Given the description of an element on the screen output the (x, y) to click on. 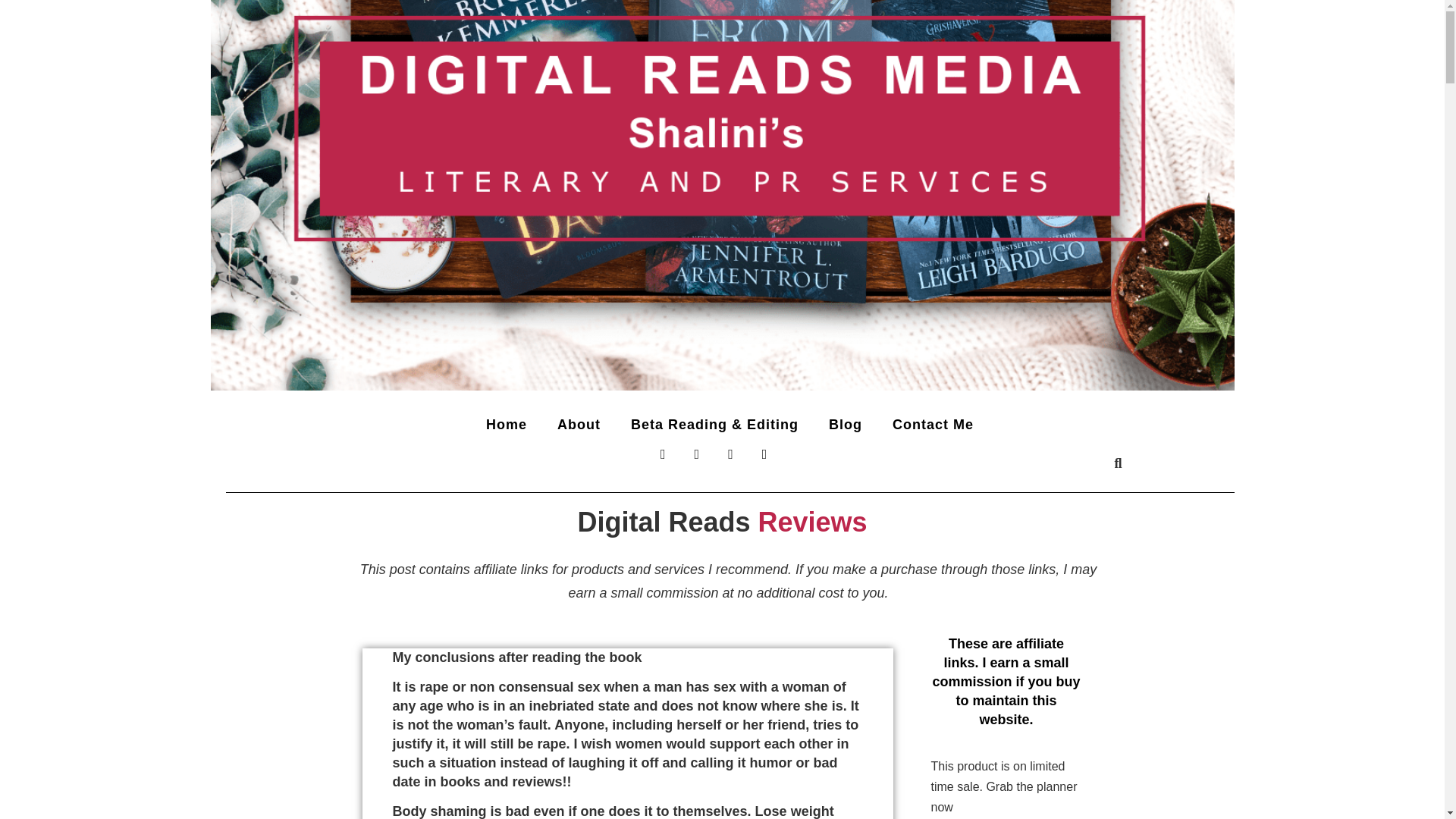
Blog (844, 424)
Home (506, 424)
About (578, 424)
Contact Me (933, 424)
